Given the description of an element on the screen output the (x, y) to click on. 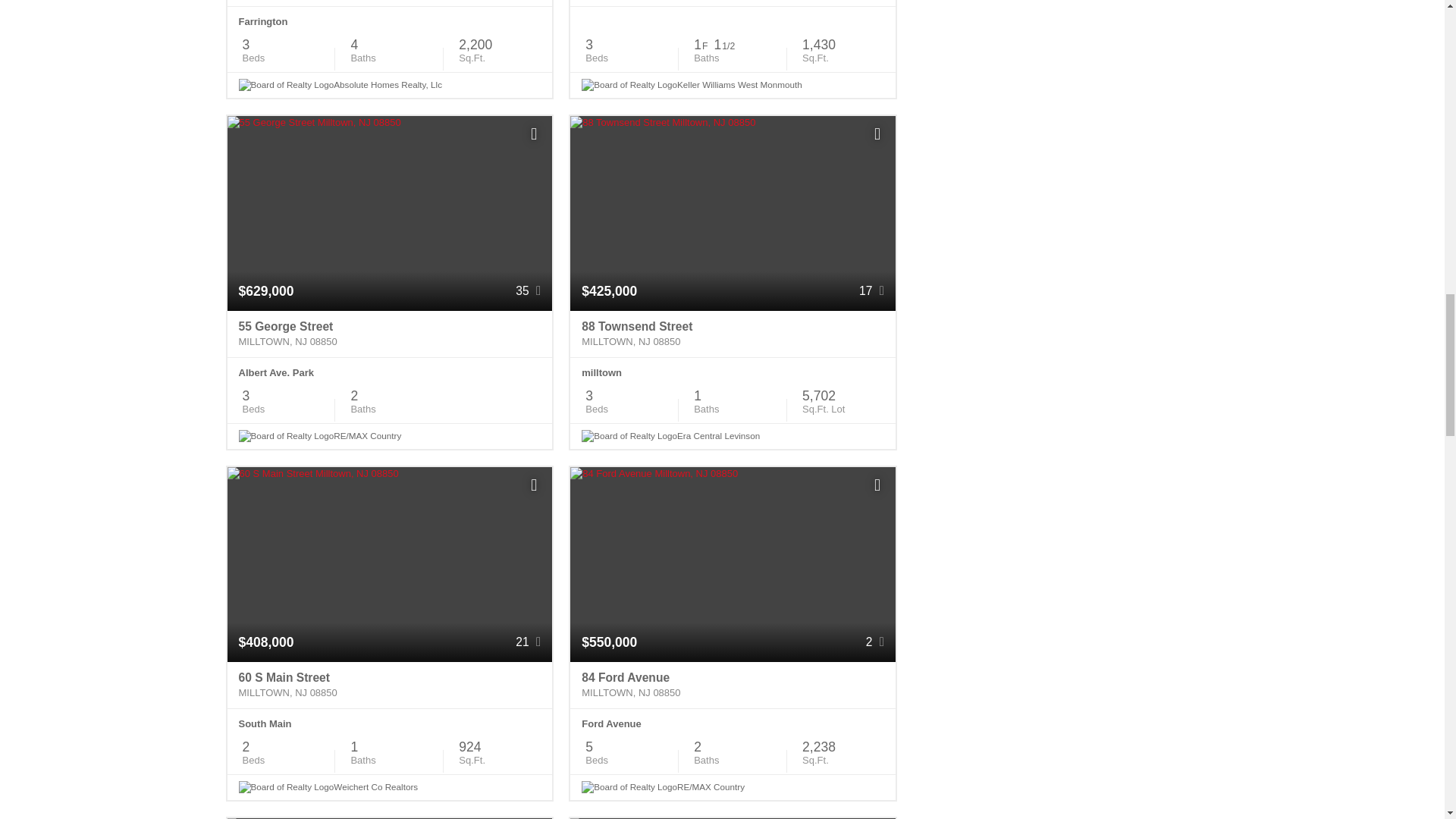
111 South Street Milltown,  NJ 08850 (732, 3)
55 George Street Milltown,  NJ 08850 (390, 334)
35 Farrington Avenue Milltown,  NJ 08850 (390, 3)
